Given the description of an element on the screen output the (x, y) to click on. 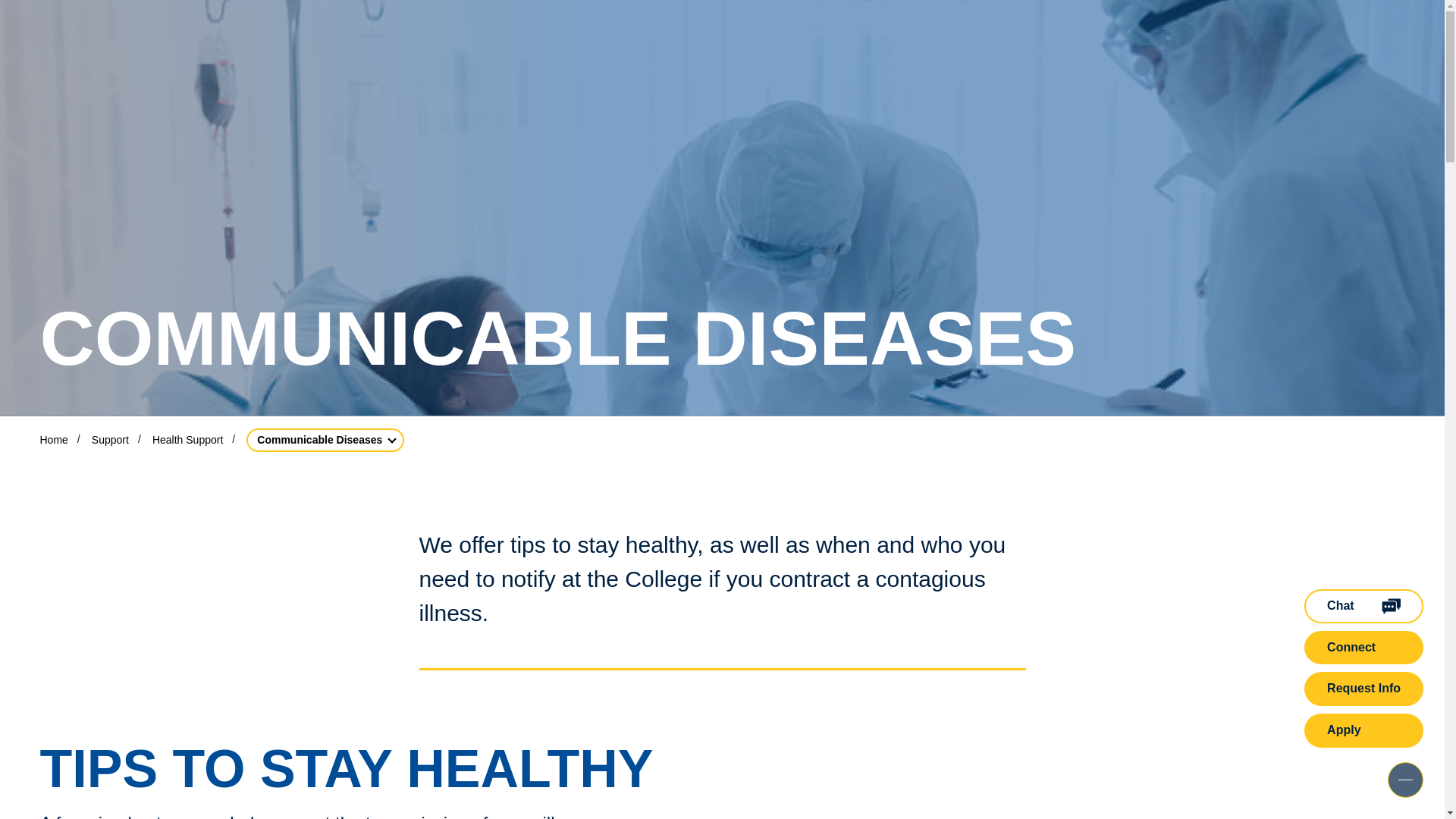
Submit (1217, 52)
